Given the description of an element on the screen output the (x, y) to click on. 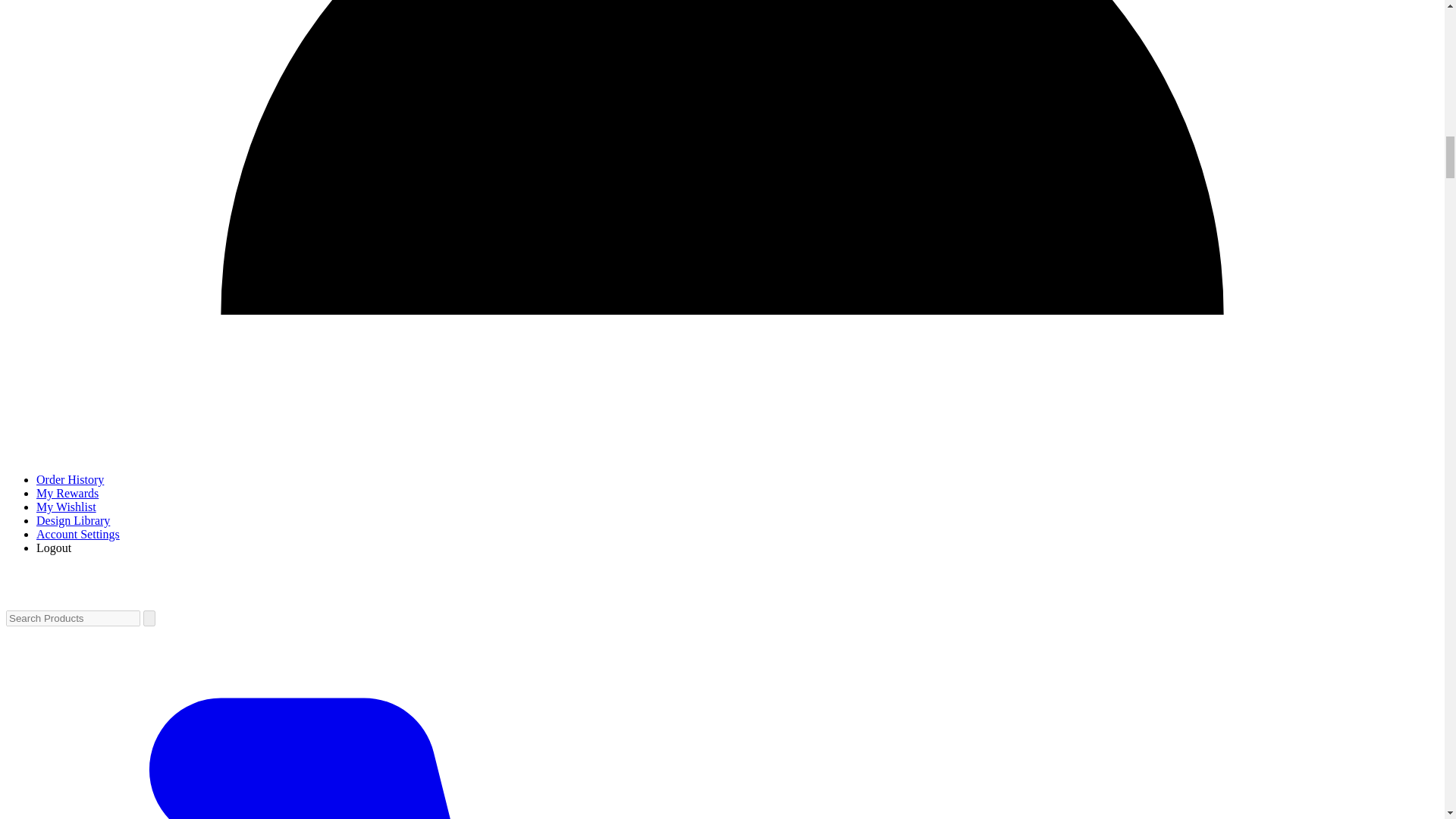
Account Settings (77, 533)
My Rewards (67, 492)
My Wishlist (66, 506)
Design Library (73, 520)
Order History (69, 479)
MatterHackers (81, 597)
